Given the description of an element on the screen output the (x, y) to click on. 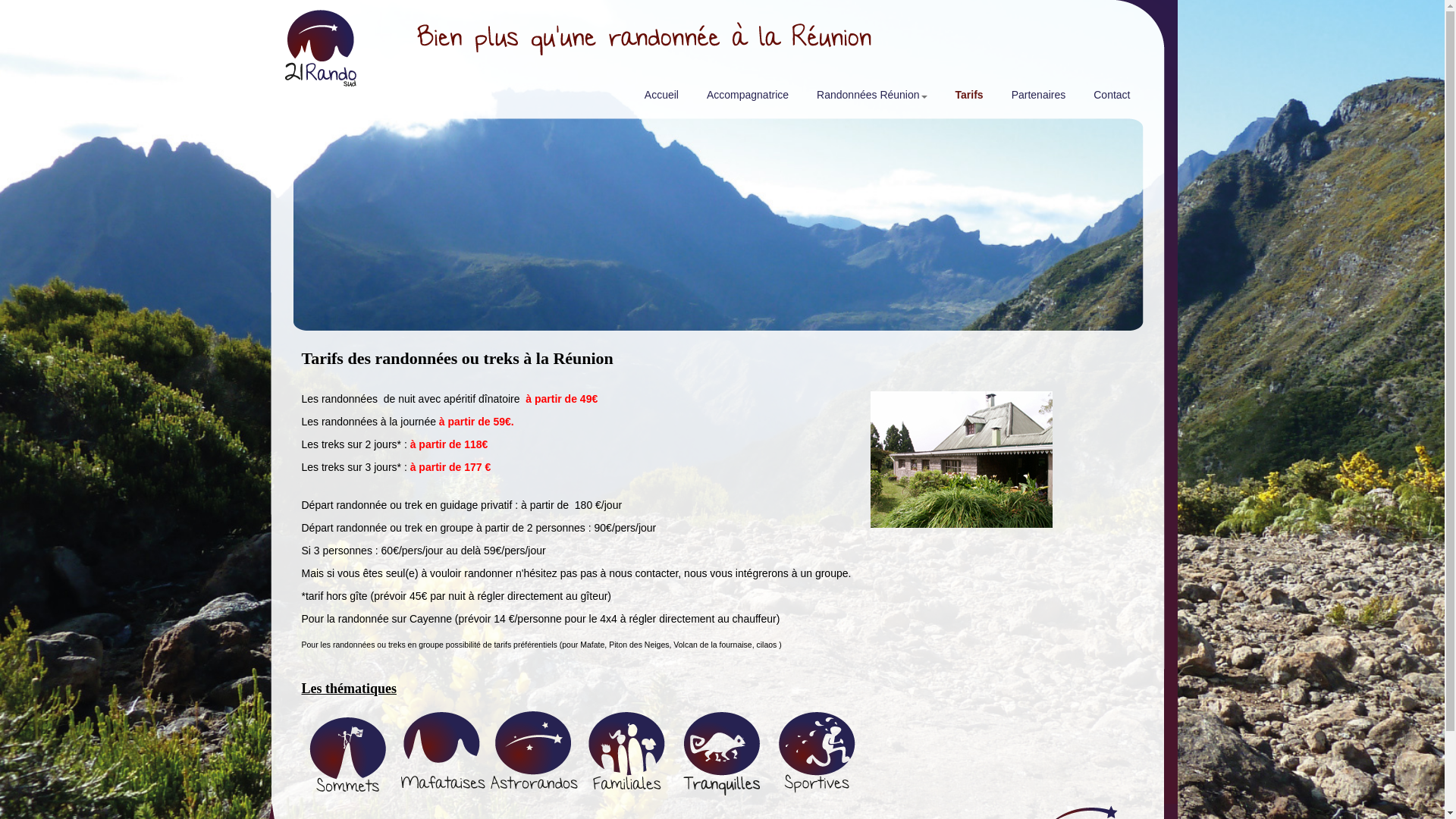
Contact Element type: text (1109, 98)
Accueil Element type: text (659, 98)
Tarifs Element type: text (967, 98)
Accompagnatrice Element type: text (745, 98)
Partenaires Element type: text (1036, 98)
